Given the description of an element on the screen output the (x, y) to click on. 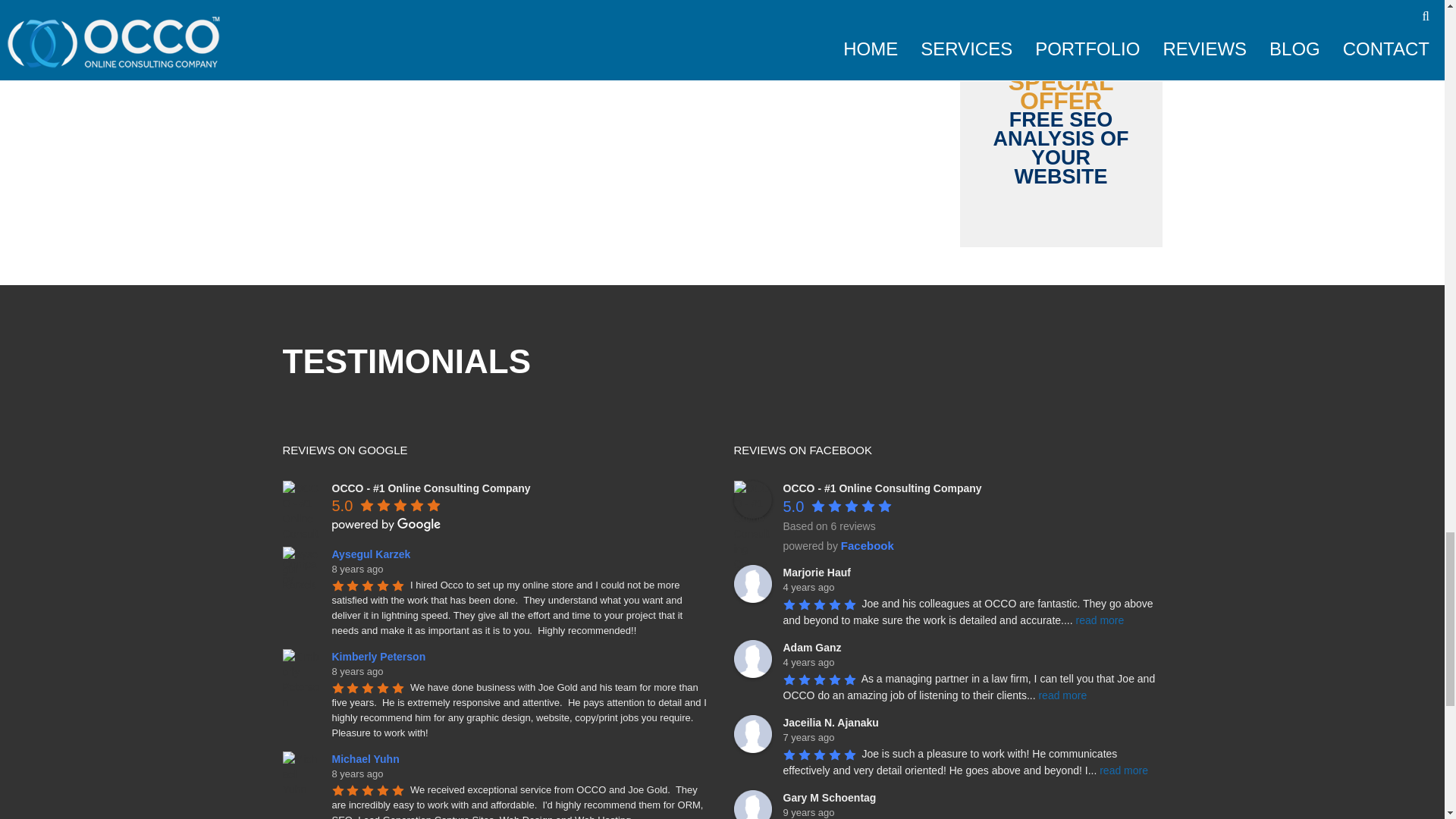
Marjorie Hauf (752, 583)
Gary M Schoentag (752, 804)
Adam Ganz (752, 658)
Jaceilia N. Ajanaku (752, 733)
